Given the description of an element on the screen output the (x, y) to click on. 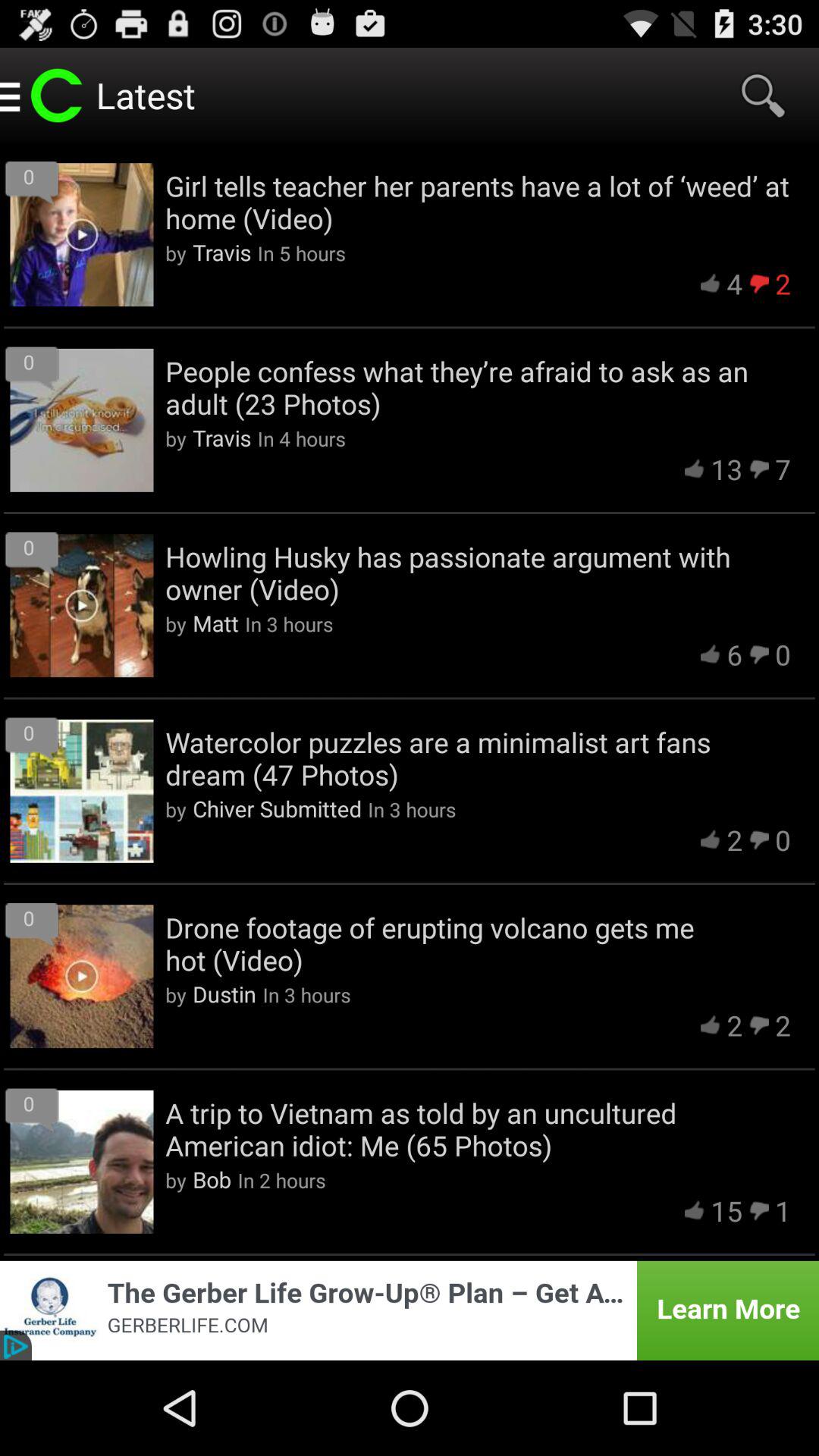
select the 7 app (783, 468)
